Given the description of an element on the screen output the (x, y) to click on. 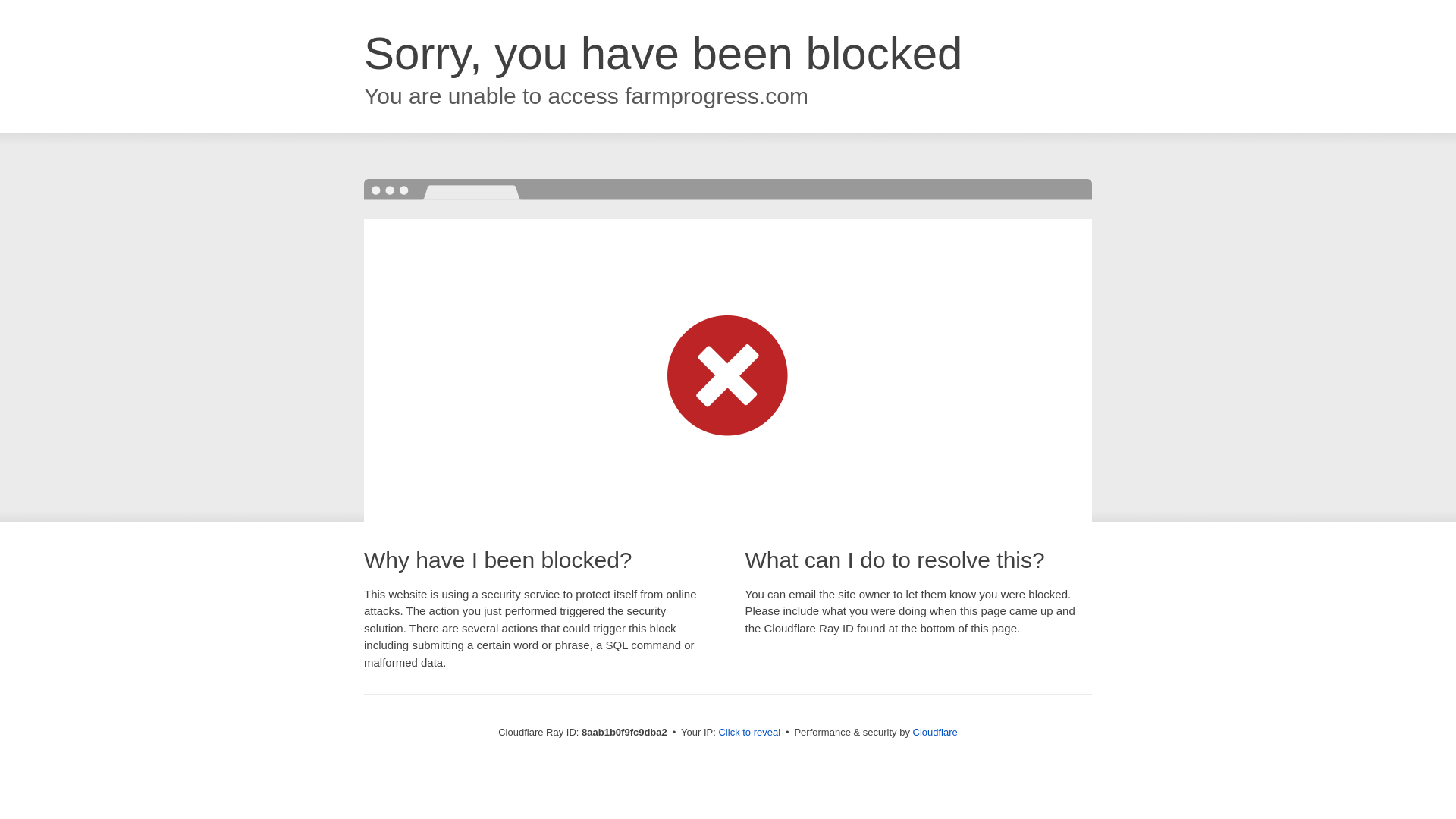
Cloudflare (935, 731)
Click to reveal (748, 732)
